Given the description of an element on the screen output the (x, y) to click on. 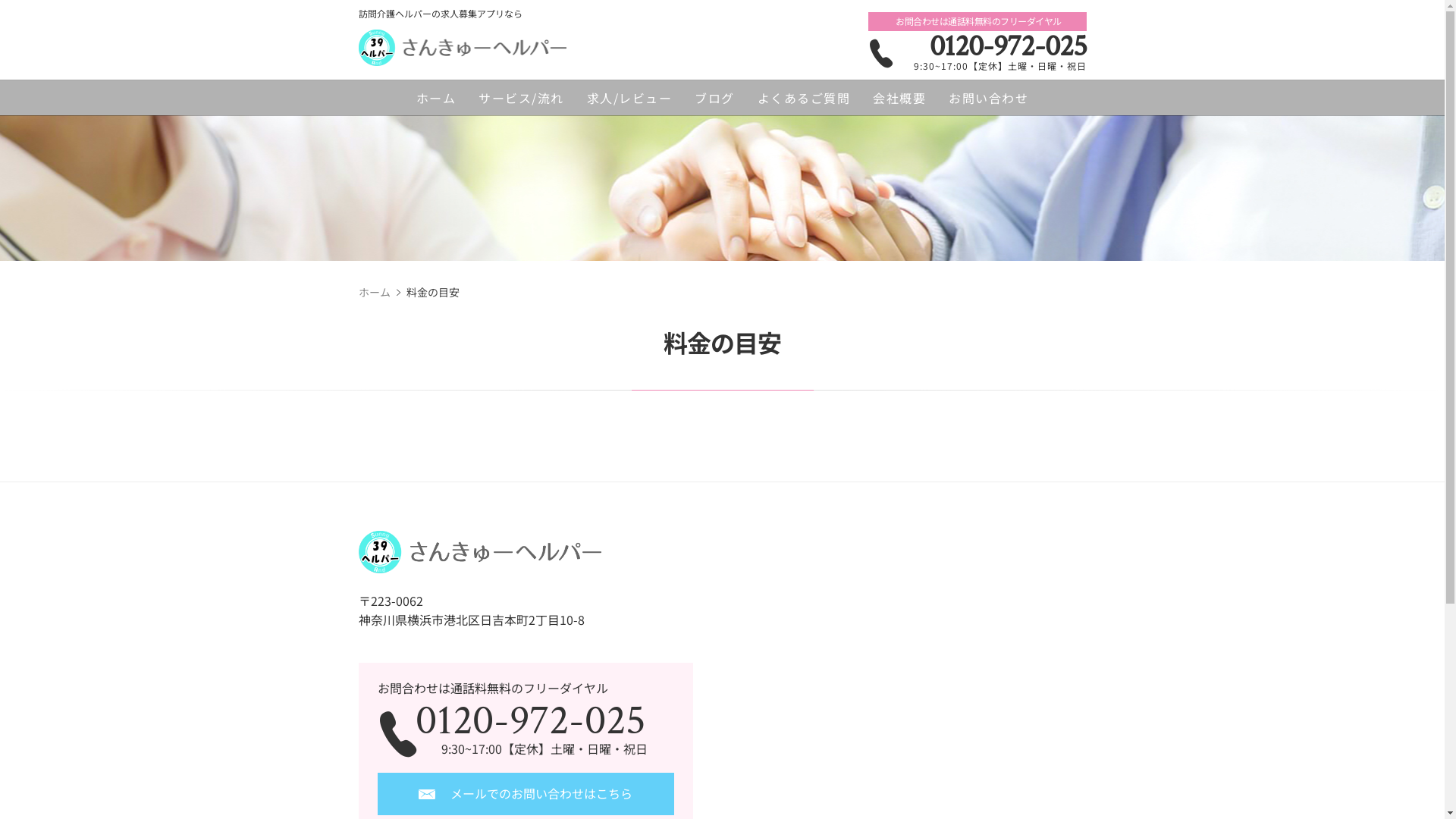
0120-972-025 Element type: text (976, 46)
